Given the description of an element on the screen output the (x, y) to click on. 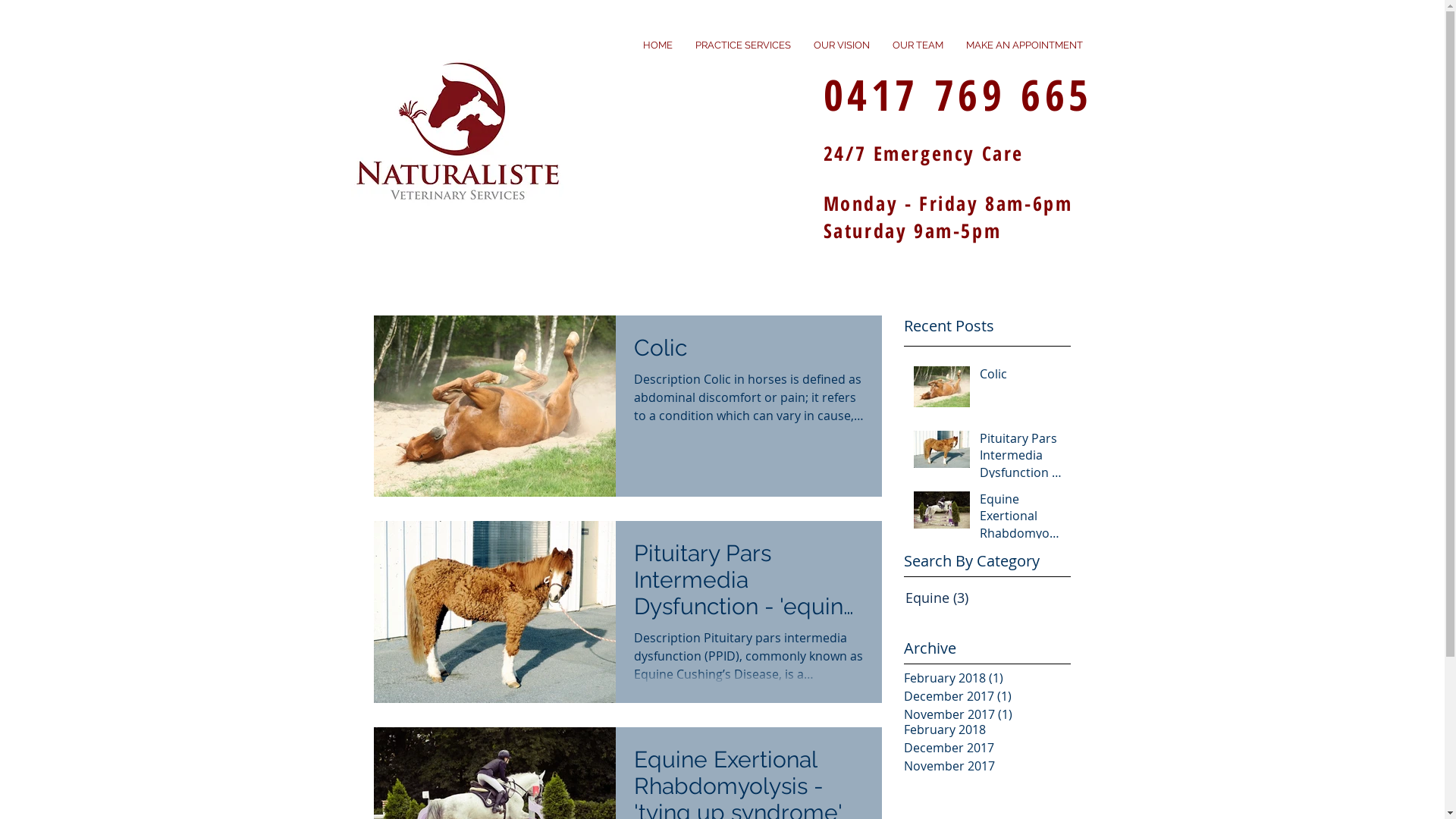
MAKE AN APPOINTMENT Element type: text (1023, 45)
OUR VISION Element type: text (841, 45)
February 2018 (1) Element type: text (983, 677)
Equine Exertional Rhabdomyolysis - 'tying up syndrome' Element type: text (1020, 518)
Equine (3) Element type: text (998, 597)
November 2017 Element type: text (982, 765)
December 2017 (1) Element type: text (983, 696)
February 2018 Element type: text (982, 729)
HOME Element type: text (656, 45)
Colic Element type: text (748, 351)
PRACTICE SERVICES Element type: text (743, 45)
November 2017 (1) Element type: text (983, 714)
Colic Element type: text (1020, 376)
December 2017 Element type: text (982, 747)
OUR TEAM Element type: text (917, 45)
